Given the description of an element on the screen output the (x, y) to click on. 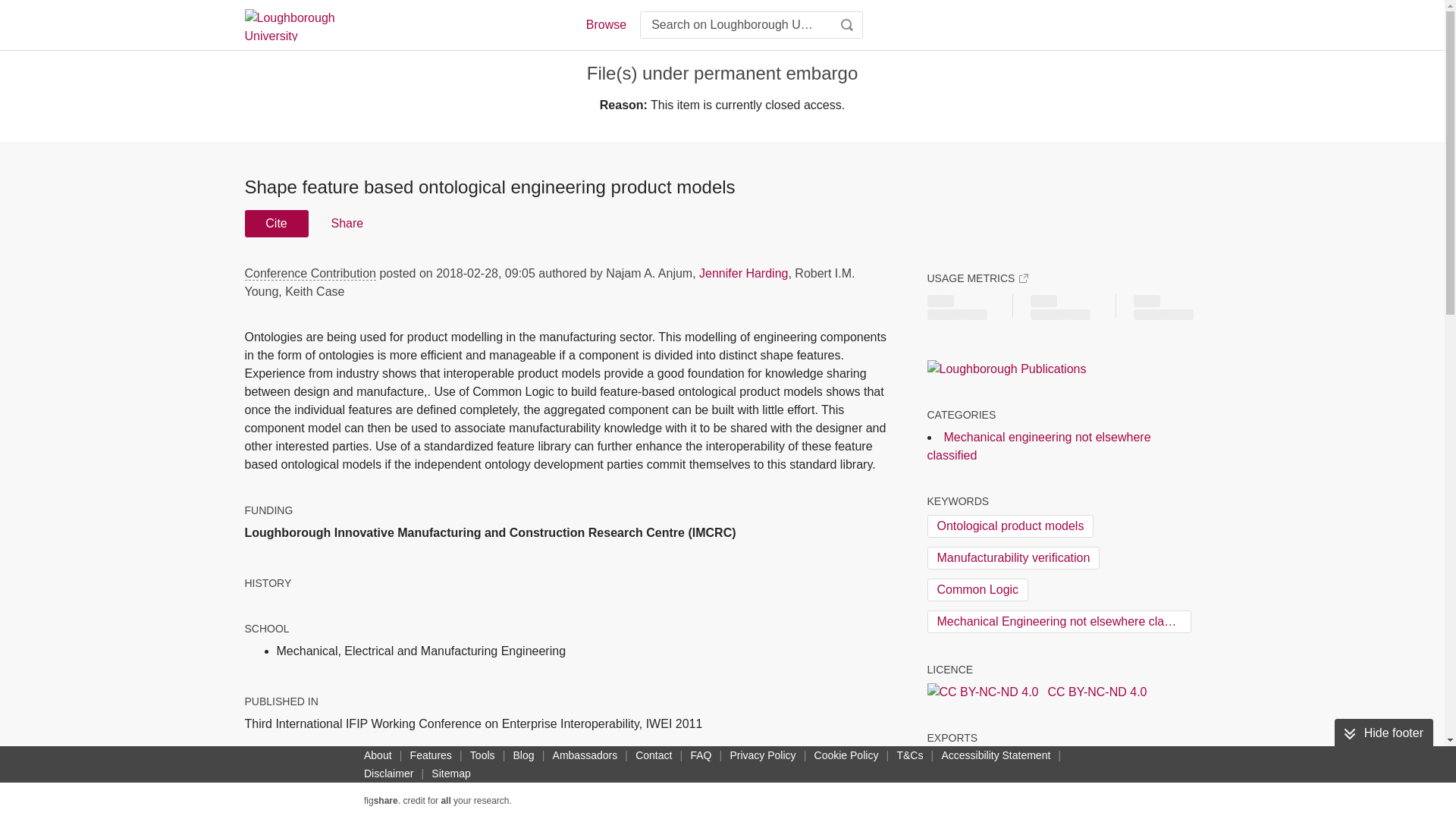
Manufacturability verification (1012, 558)
USAGE METRICS (976, 277)
Mechanical Engineering not elsewhere classified (1058, 621)
About (377, 755)
Privacy Policy (762, 755)
CC BY-NC-ND 4.0 (1036, 692)
Mechanical engineering not elsewhere classified (1038, 445)
Hide footer (1383, 733)
Disclaimer (388, 773)
Cite (275, 223)
